Given the description of an element on the screen output the (x, y) to click on. 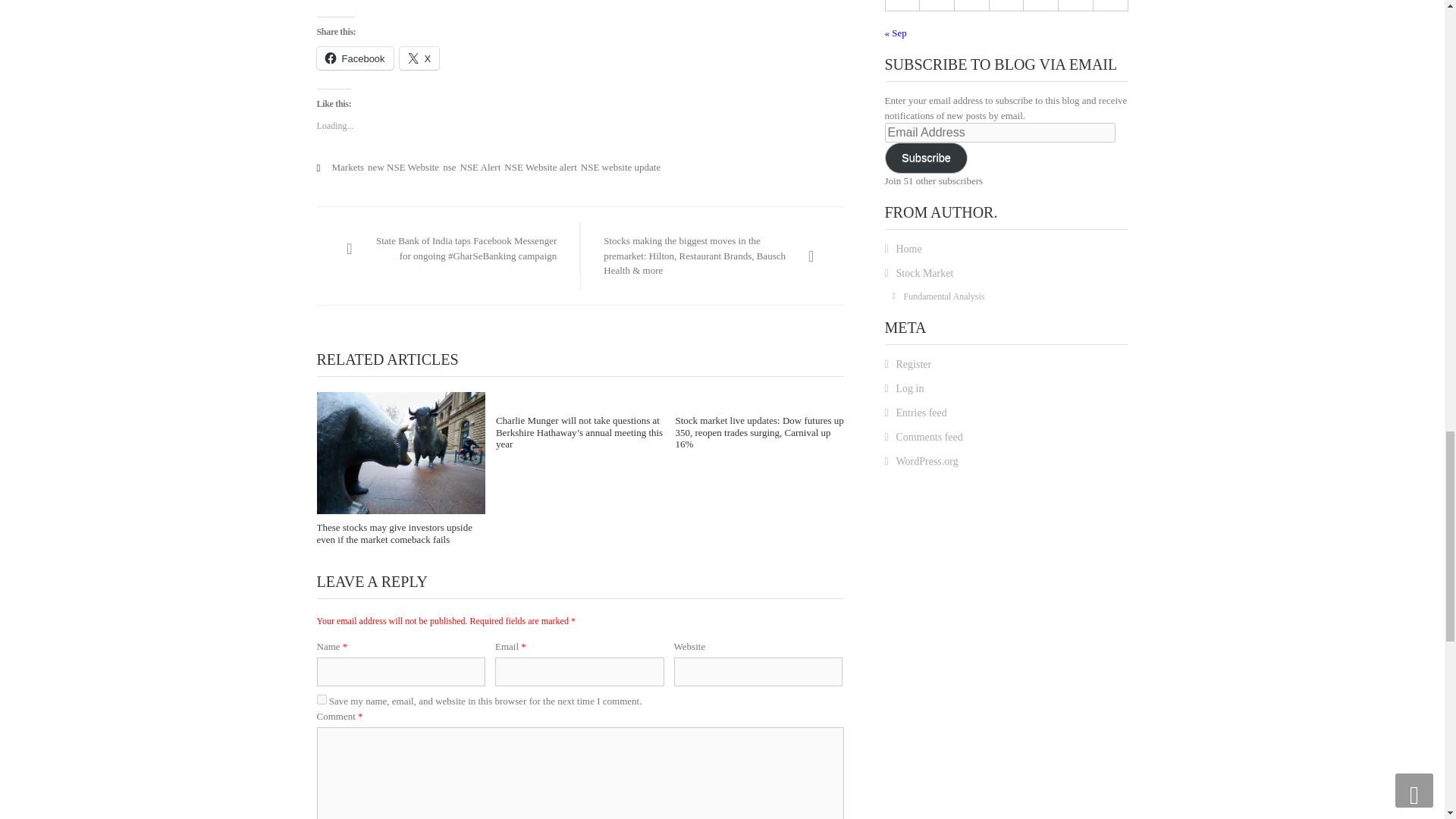
yes (321, 699)
Facebook (355, 57)
Markets (348, 166)
new NSE Website (403, 166)
X (418, 57)
Click to share on Facebook (355, 57)
NSE website update (620, 166)
nse (448, 166)
NSE Website alert (539, 166)
NSE Alert (480, 166)
Click to share on X (418, 57)
